Given the description of an element on the screen output the (x, y) to click on. 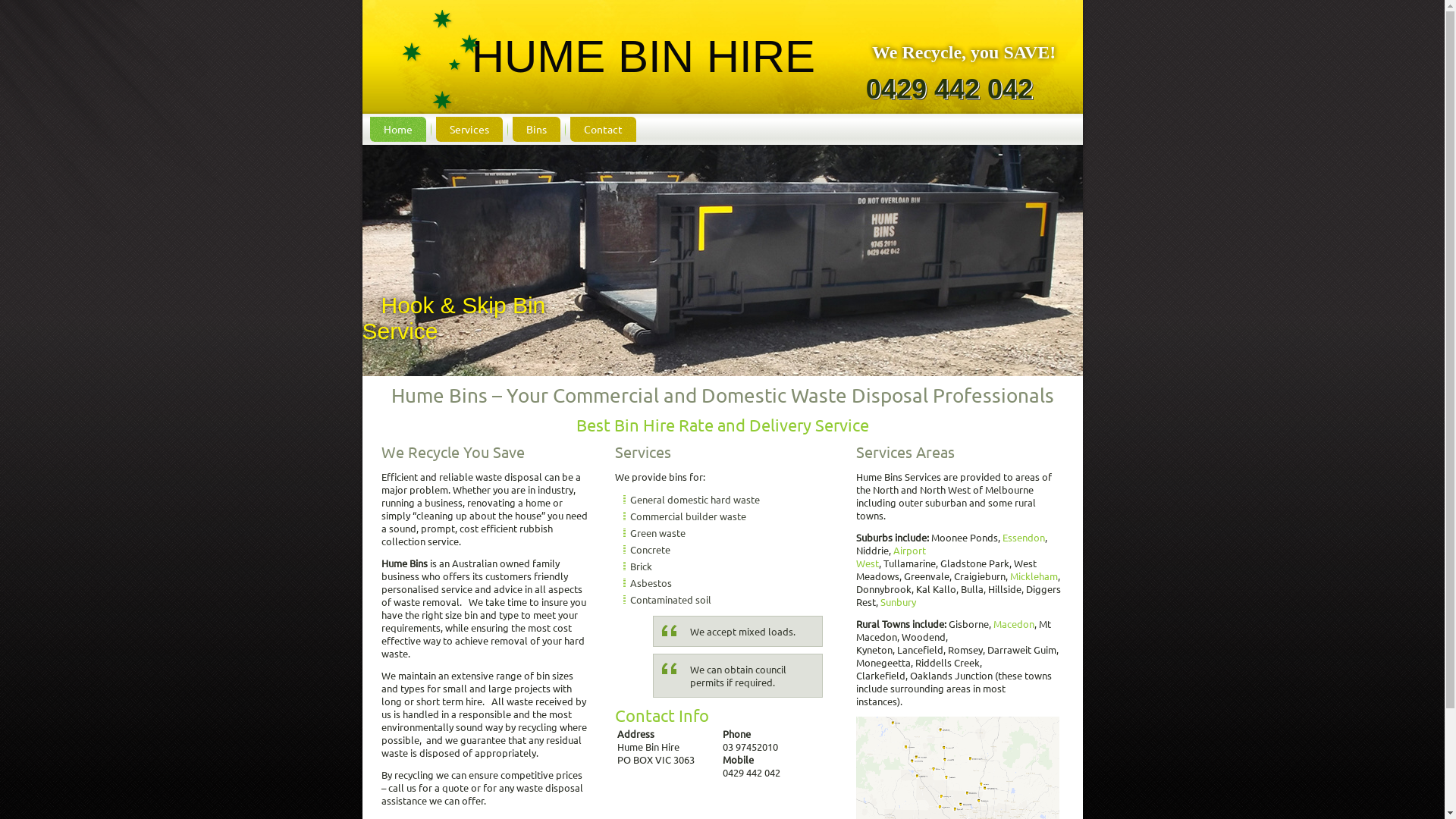
Home Element type: text (398, 128)
Airport
West Element type: text (890, 556)
HUME BIN HIRE Element type: text (643, 56)
Sunbury Element type: text (898, 601)
Macedon Element type: text (1013, 623)
Bins Element type: text (536, 128)
Services Element type: text (468, 128)
Mickleham Element type: text (1033, 575)
Essendon Element type: text (1023, 536)
Contact Element type: text (603, 128)
